Given the description of an element on the screen output the (x, y) to click on. 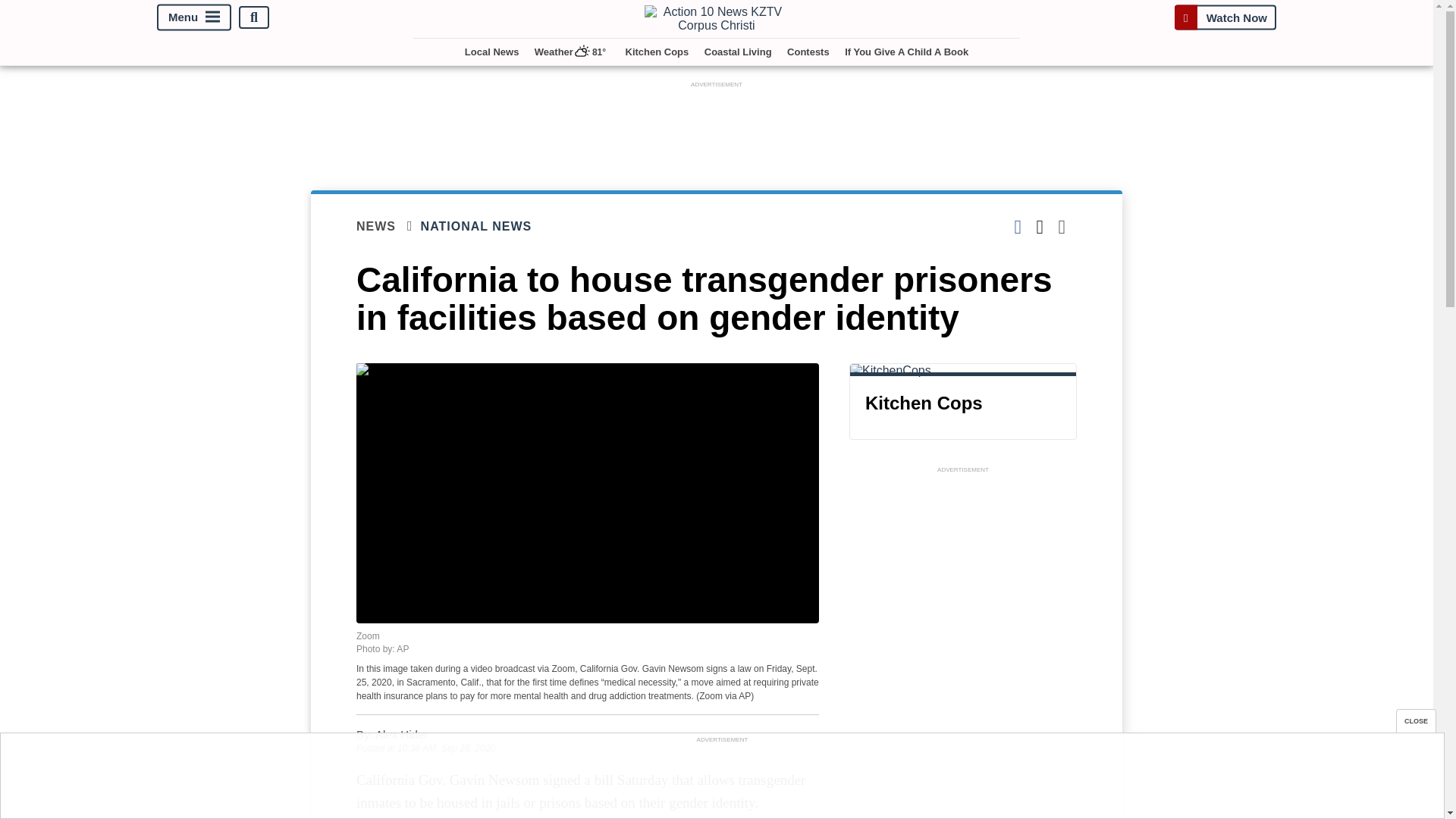
3rd party ad content (716, 125)
3rd party ad content (962, 647)
Watch Now (1224, 16)
3rd party ad content (721, 780)
Menu (194, 17)
